Given the description of an element on the screen output the (x, y) to click on. 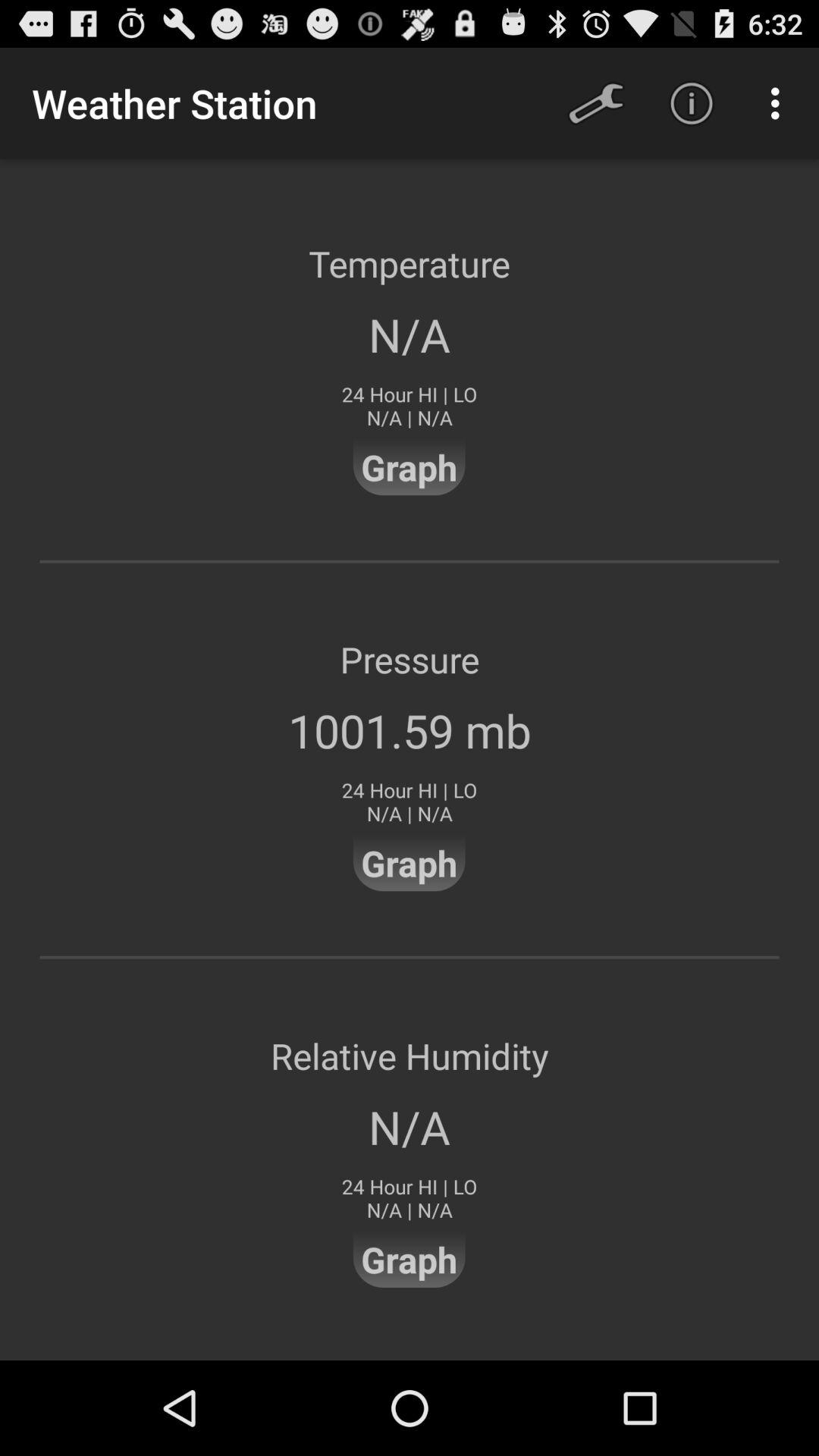
click on the settings icon beside weather station (595, 103)
